Given the description of an element on the screen output the (x, y) to click on. 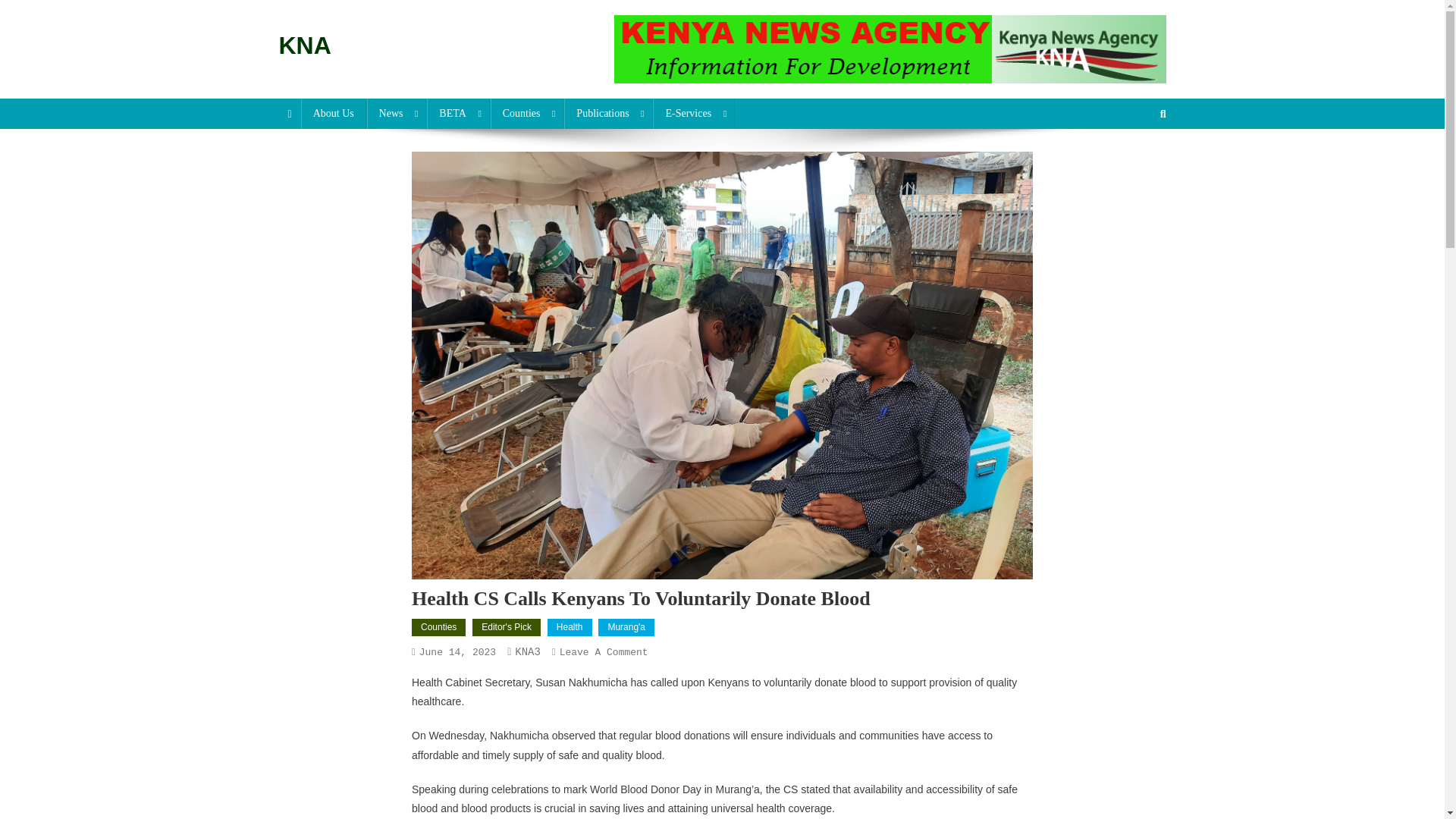
News (396, 113)
KNA (305, 44)
About Us (333, 113)
BETA (457, 113)
Counties (527, 113)
